Given the description of an element on the screen output the (x, y) to click on. 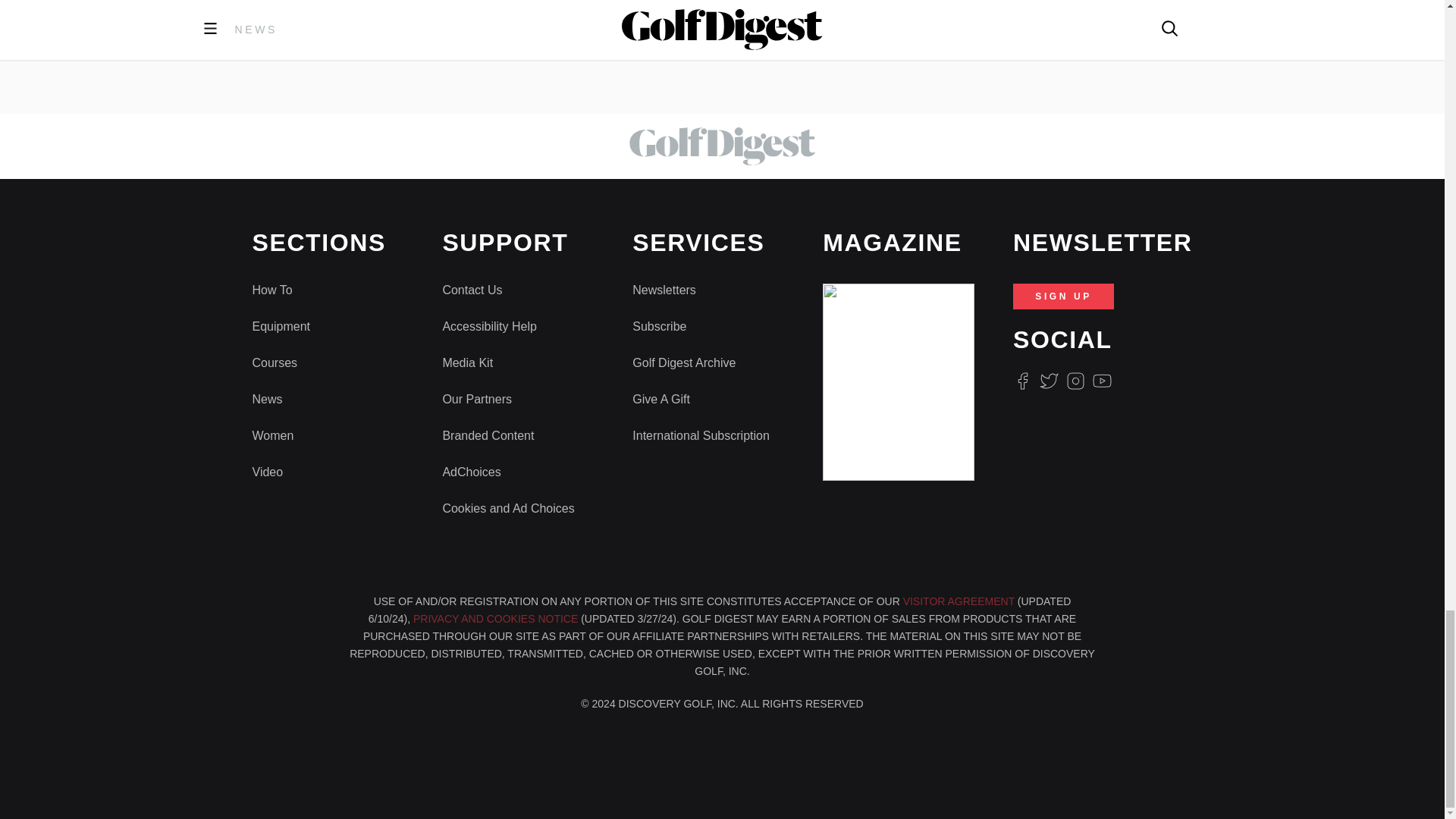
Instagram Logo (1074, 380)
Youtube Icon (1102, 380)
Facebook Logo (1022, 380)
Twitter Logo (1048, 380)
